Given the description of an element on the screen output the (x, y) to click on. 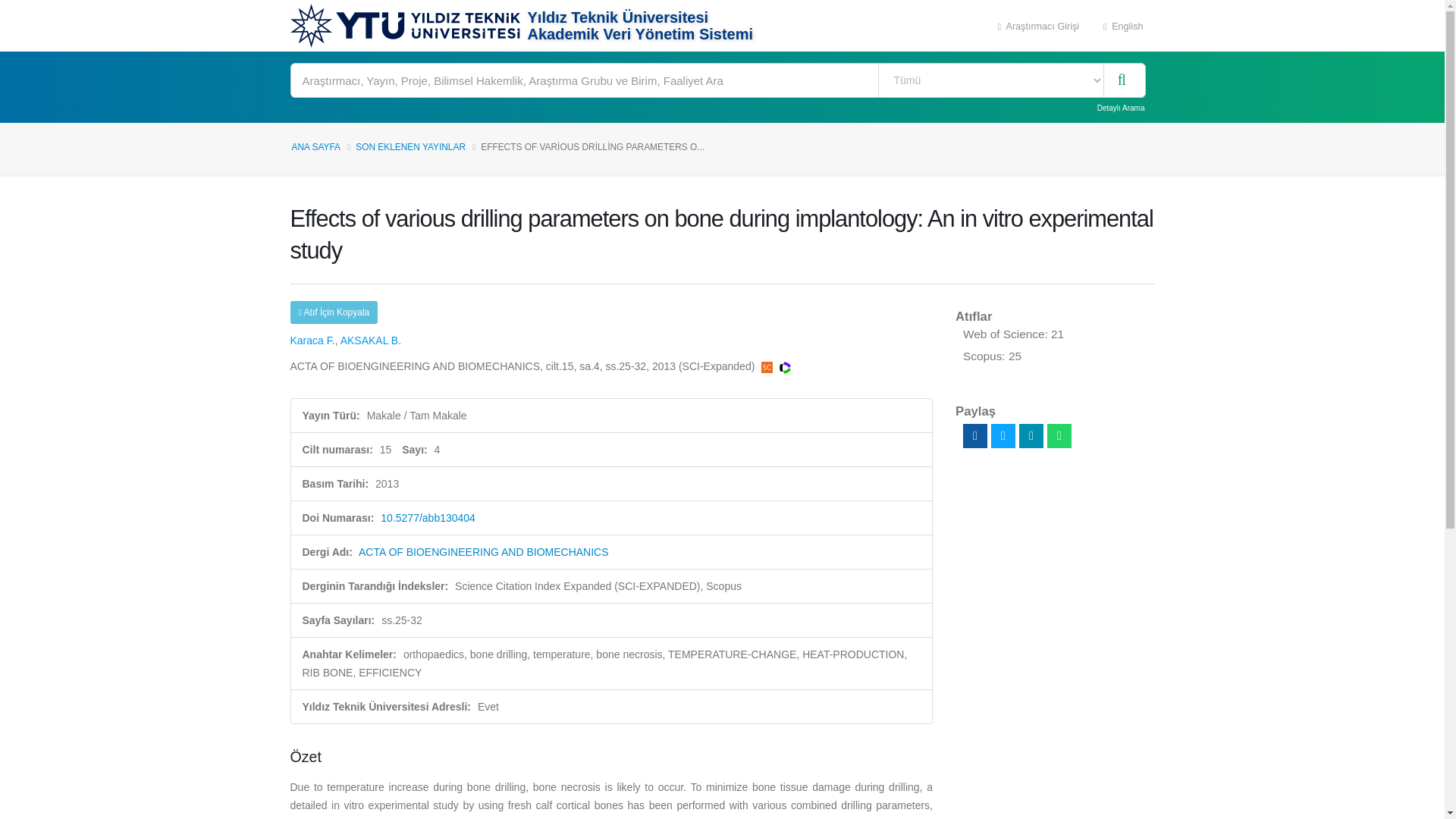
ACTA OF BIOENGINEERING AND BIOMECHANICS (483, 551)
ANA SAYFA (315, 146)
Faruk Karaca (311, 340)
AKSAKAL B. (370, 340)
Karaca F. (311, 340)
SON EKLENEN YAYINLAR (410, 146)
English (1123, 26)
